Given the description of an element on the screen output the (x, y) to click on. 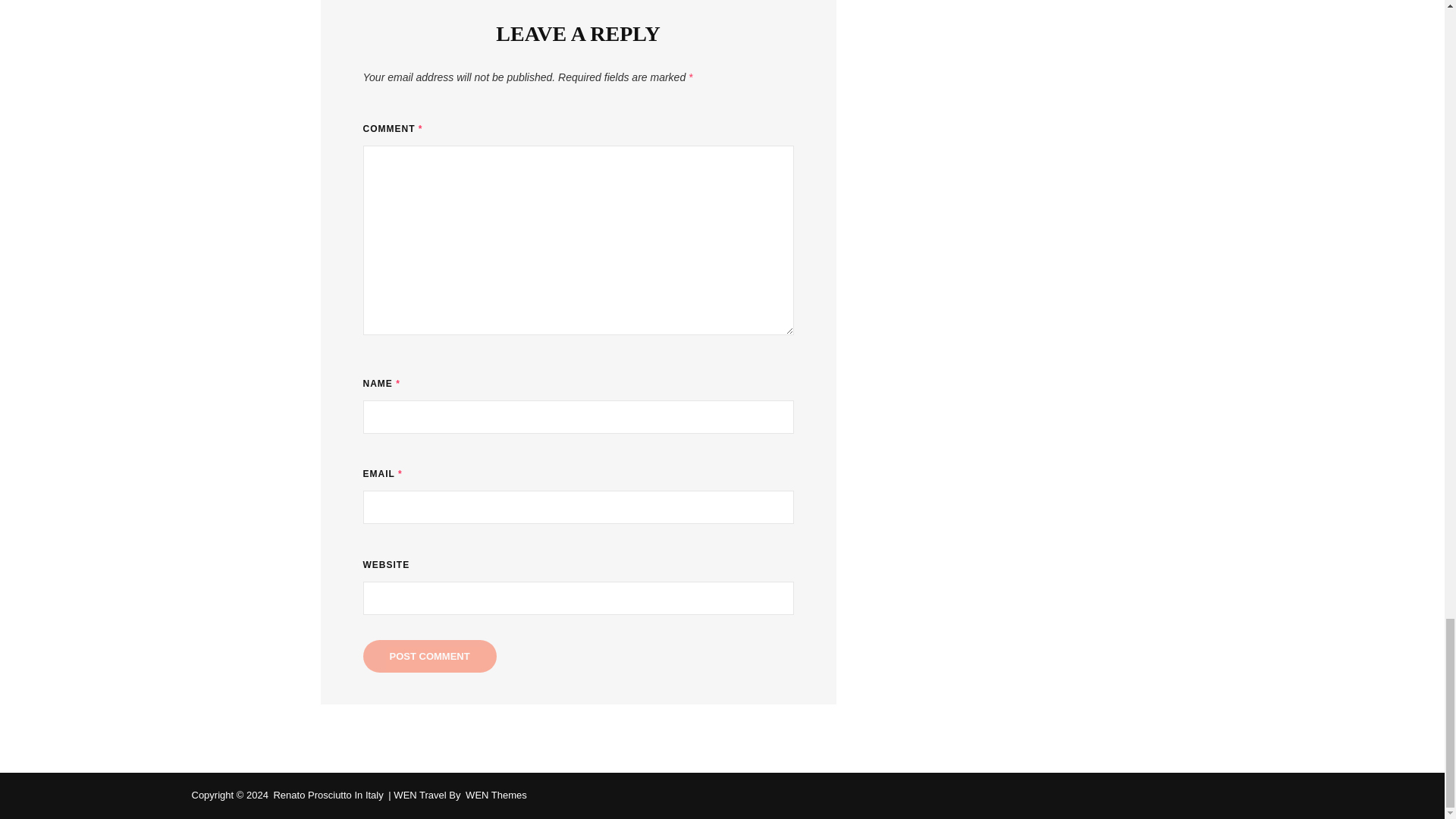
Post Comment (429, 655)
